Given the description of an element on the screen output the (x, y) to click on. 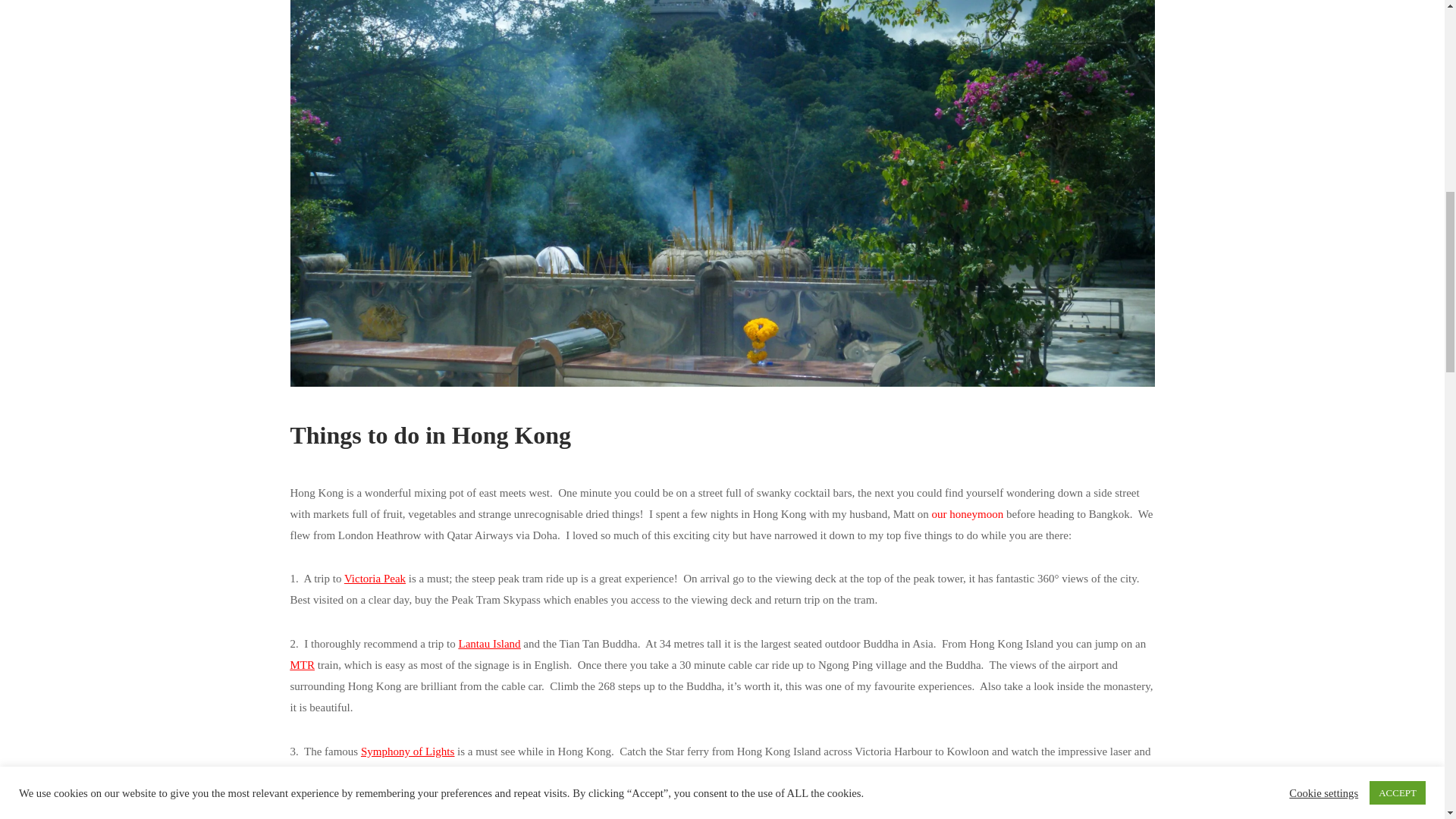
Victoria Peak (374, 578)
our honeymoon (967, 513)
Symphony of Lights (407, 751)
MTR (301, 664)
Lantau Island (489, 644)
